Given the description of an element on the screen output the (x, y) to click on. 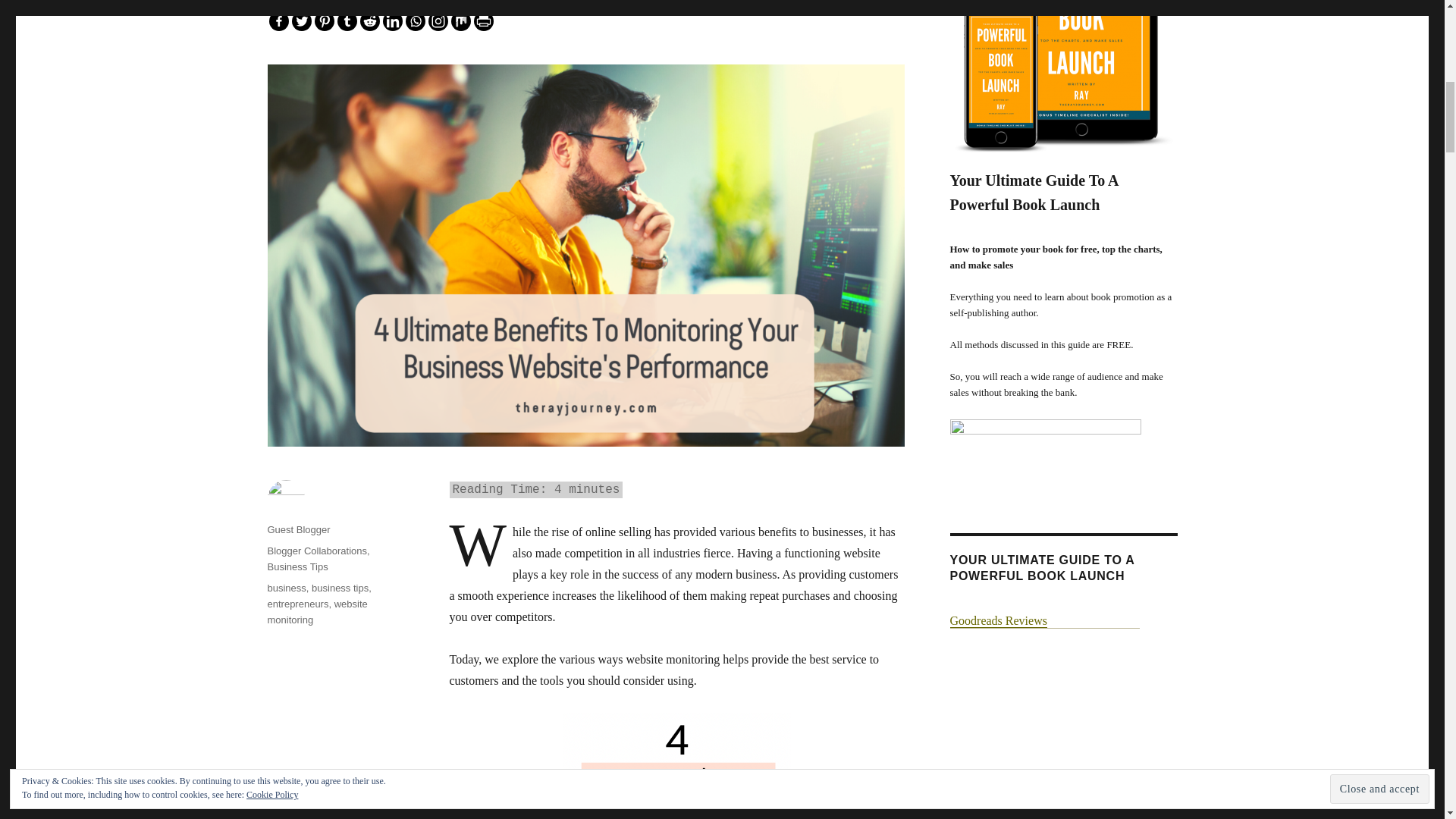
Tumblr (346, 21)
PrintFriendly (483, 21)
Pinterest (323, 21)
Whatsapp (414, 21)
Reddit (368, 21)
Facebook (277, 21)
Instagram (437, 21)
Linkedin (391, 21)
Mix (459, 21)
Twitter (301, 21)
